Given the description of an element on the screen output the (x, y) to click on. 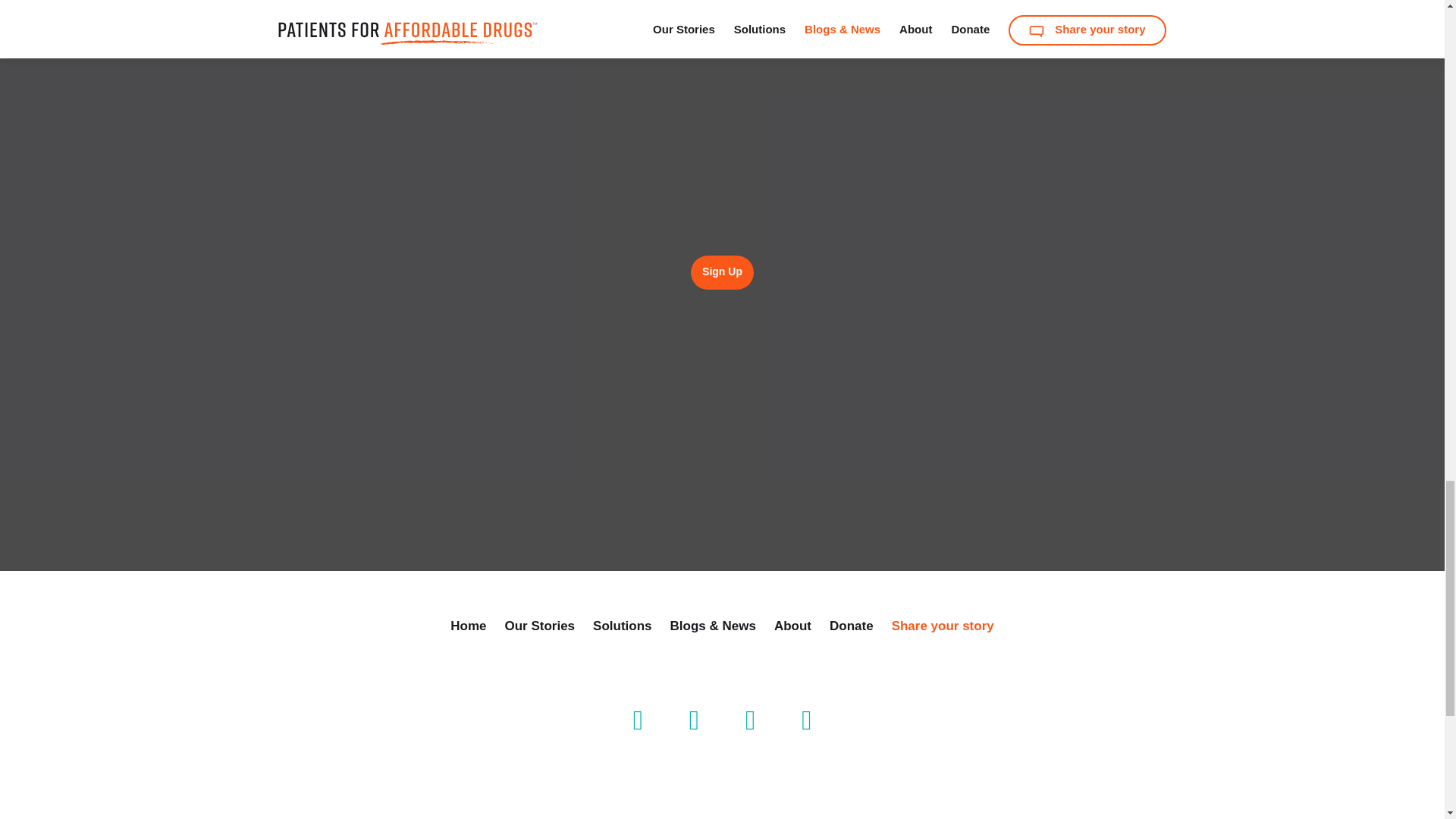
Sign Up (722, 272)
